Given the description of an element on the screen output the (x, y) to click on. 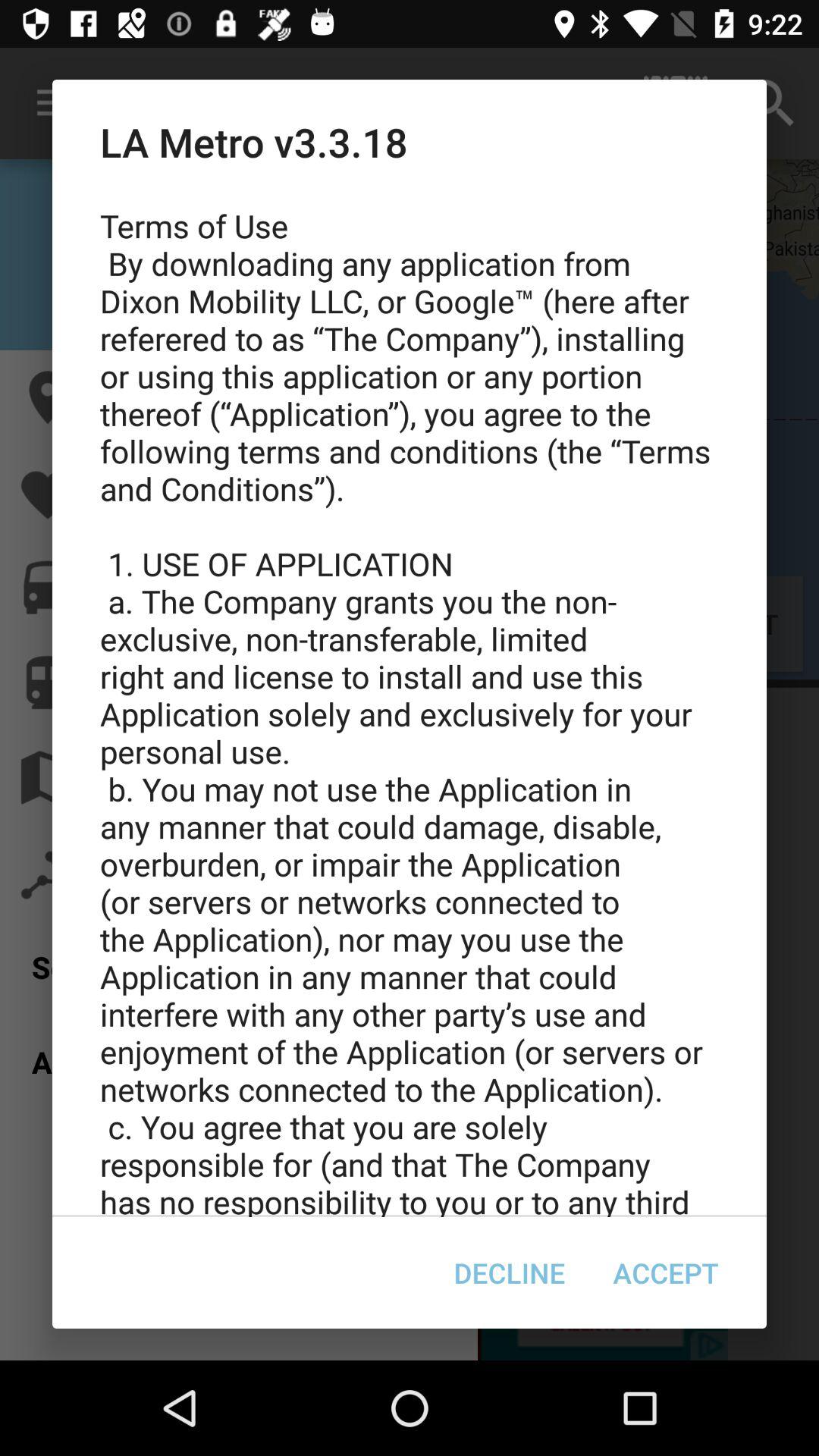
launch the icon below the terms of use item (509, 1272)
